Given the description of an element on the screen output the (x, y) to click on. 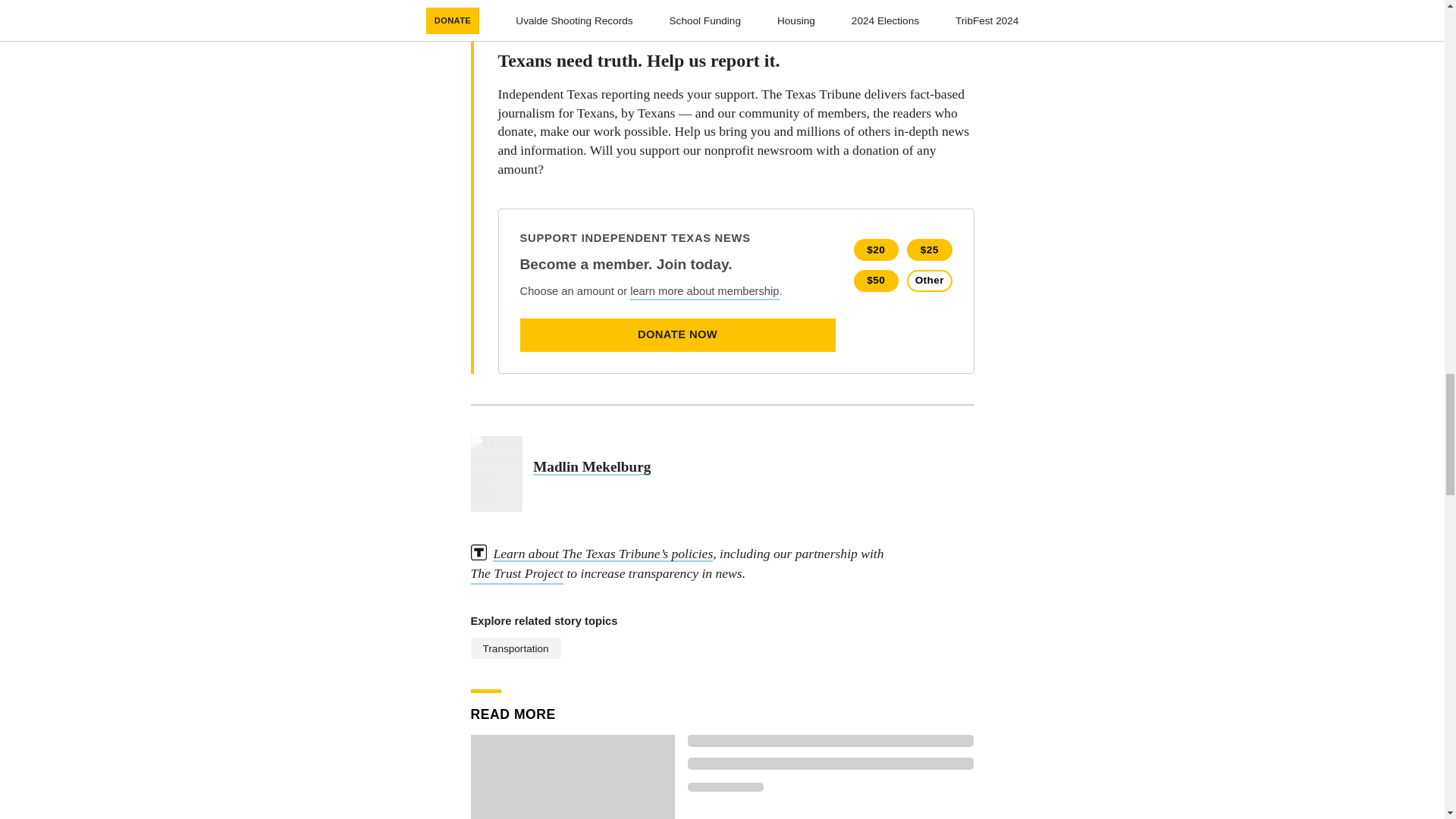
Loading indicator (830, 740)
Loading indicator (724, 786)
Loading indicator (830, 763)
